Given the description of an element on the screen output the (x, y) to click on. 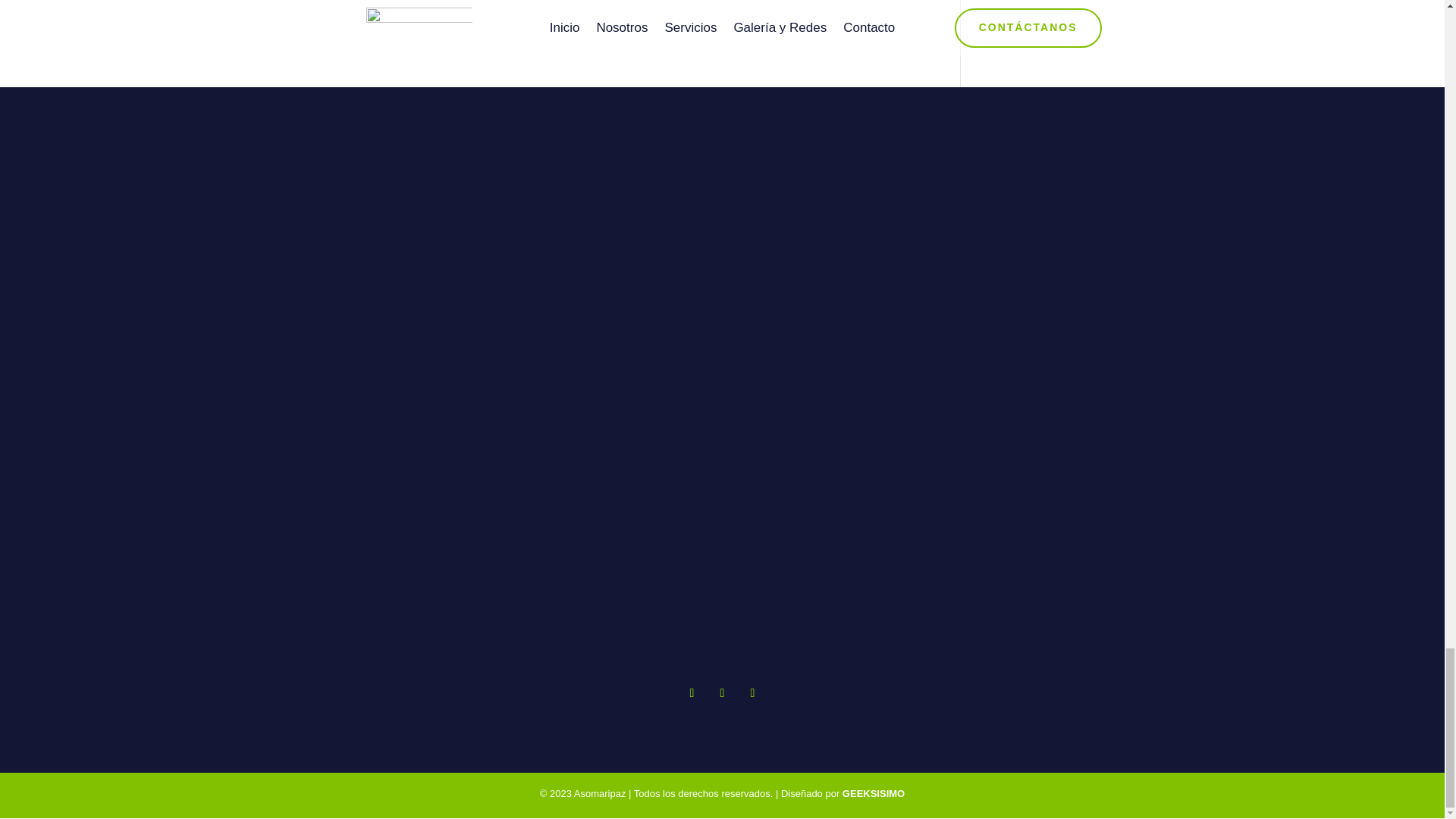
Seguir en Facebook (691, 692)
GEEKSISIMO (873, 793)
Seguir en Twitter (721, 692)
Seguir en Instagram (751, 692)
